Given the description of an element on the screen output the (x, y) to click on. 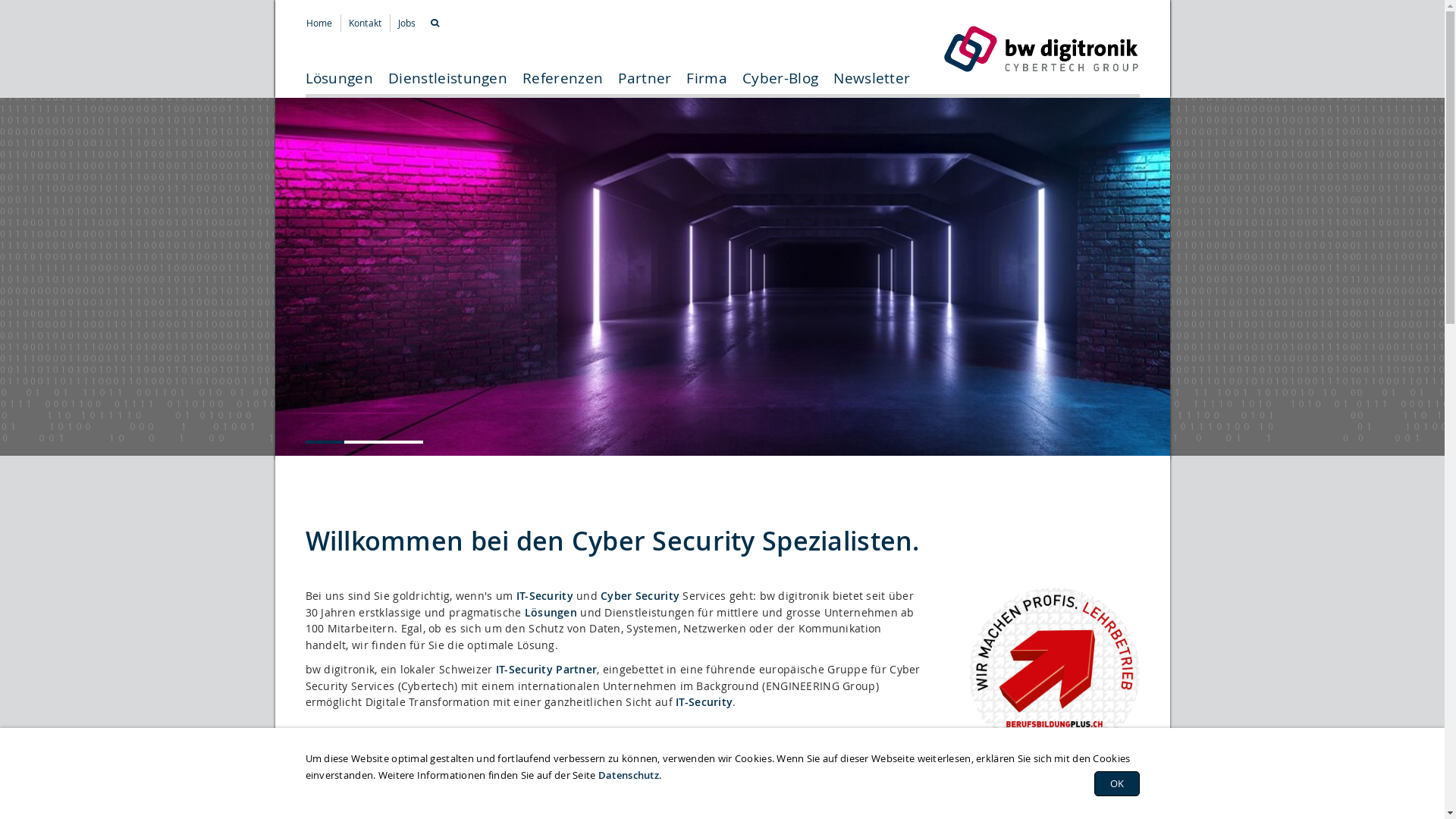
Firma Element type: text (706, 83)
IT-Security Partner Element type: text (545, 669)
Newsletter Element type: text (871, 83)
Cyber Security Element type: text (639, 595)
Datenschutz Element type: text (628, 774)
IT-Security Element type: text (703, 701)
Jobs Element type: text (407, 22)
Dienstleistungen Element type: text (447, 83)
Referenzen Element type: text (562, 83)
Kontakt Element type: text (365, 22)
OK Element type: text (1116, 783)
IT-Security Element type: text (544, 595)
Partner Element type: text (644, 83)
Cyber-Blog Element type: text (780, 83)
Home Element type: text (319, 22)
